Given the description of an element on the screen output the (x, y) to click on. 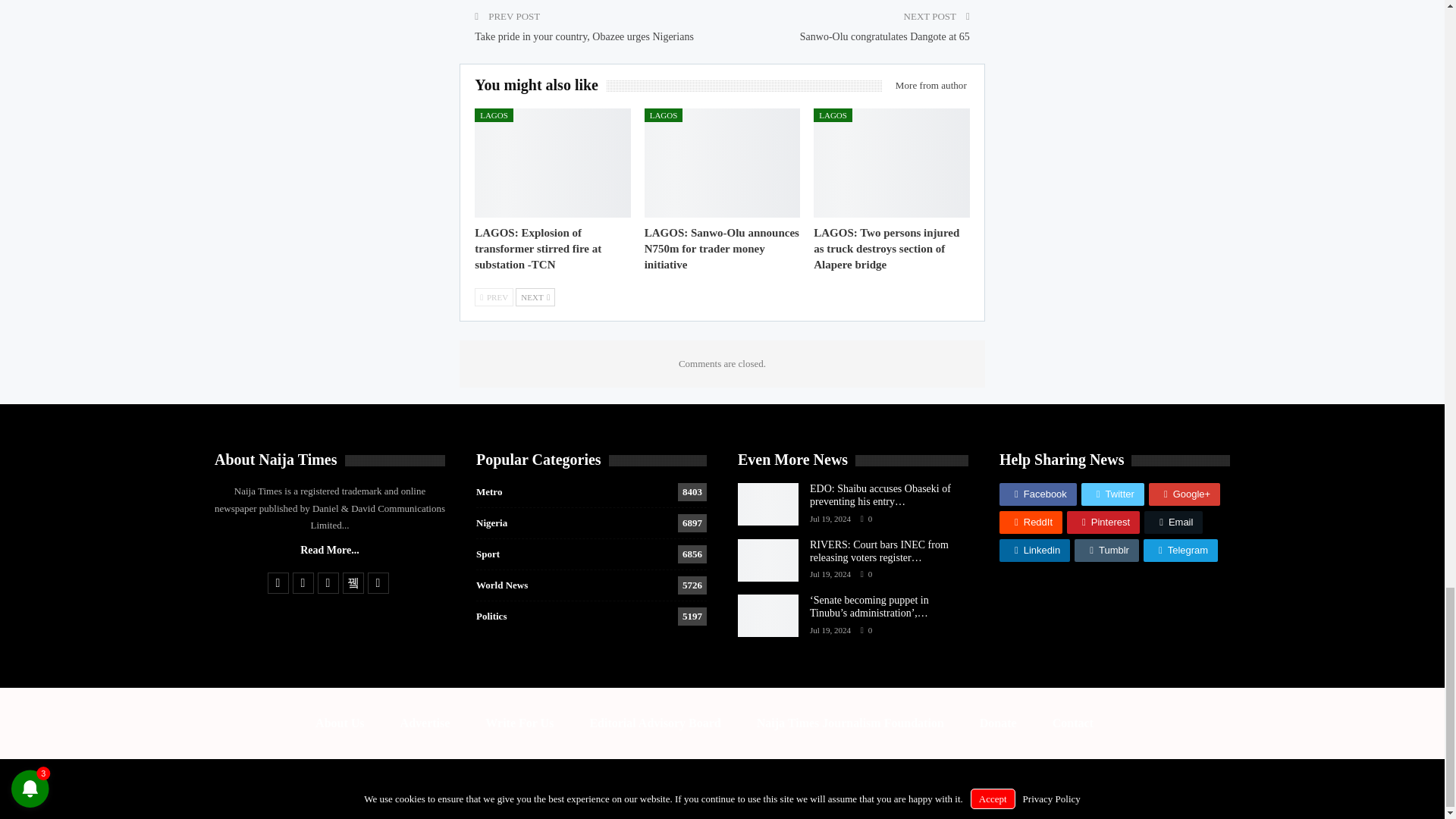
LAGOS: Sanwo-Olu announces N750m for trader money initiative (722, 162)
Previous (493, 297)
Next (534, 297)
LAGOS: Sanwo-Olu announces N750m for trader money initiative (722, 248)
